Given the description of an element on the screen output the (x, y) to click on. 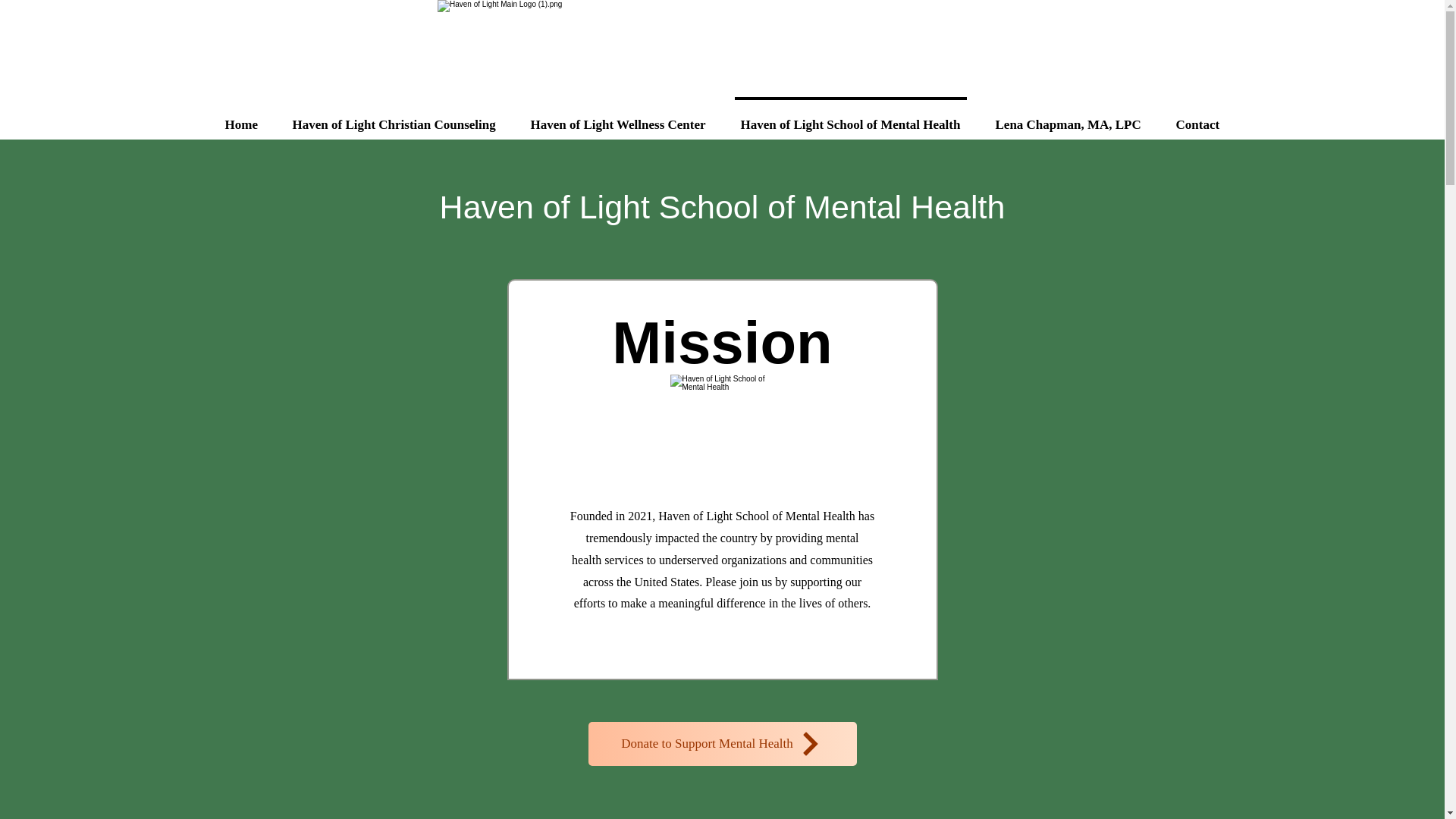
Haven of Light School of Mental Health (850, 118)
Haven of Light Wellness Center (617, 118)
Lena Chapman, MA, LPC (1068, 118)
Haven of Light School of Mental Health (722, 207)
Contact (1197, 118)
Donate to Support Mental Health (722, 743)
Haven of Light Christian Counseling (393, 118)
Home (241, 118)
